Given the description of an element on the screen output the (x, y) to click on. 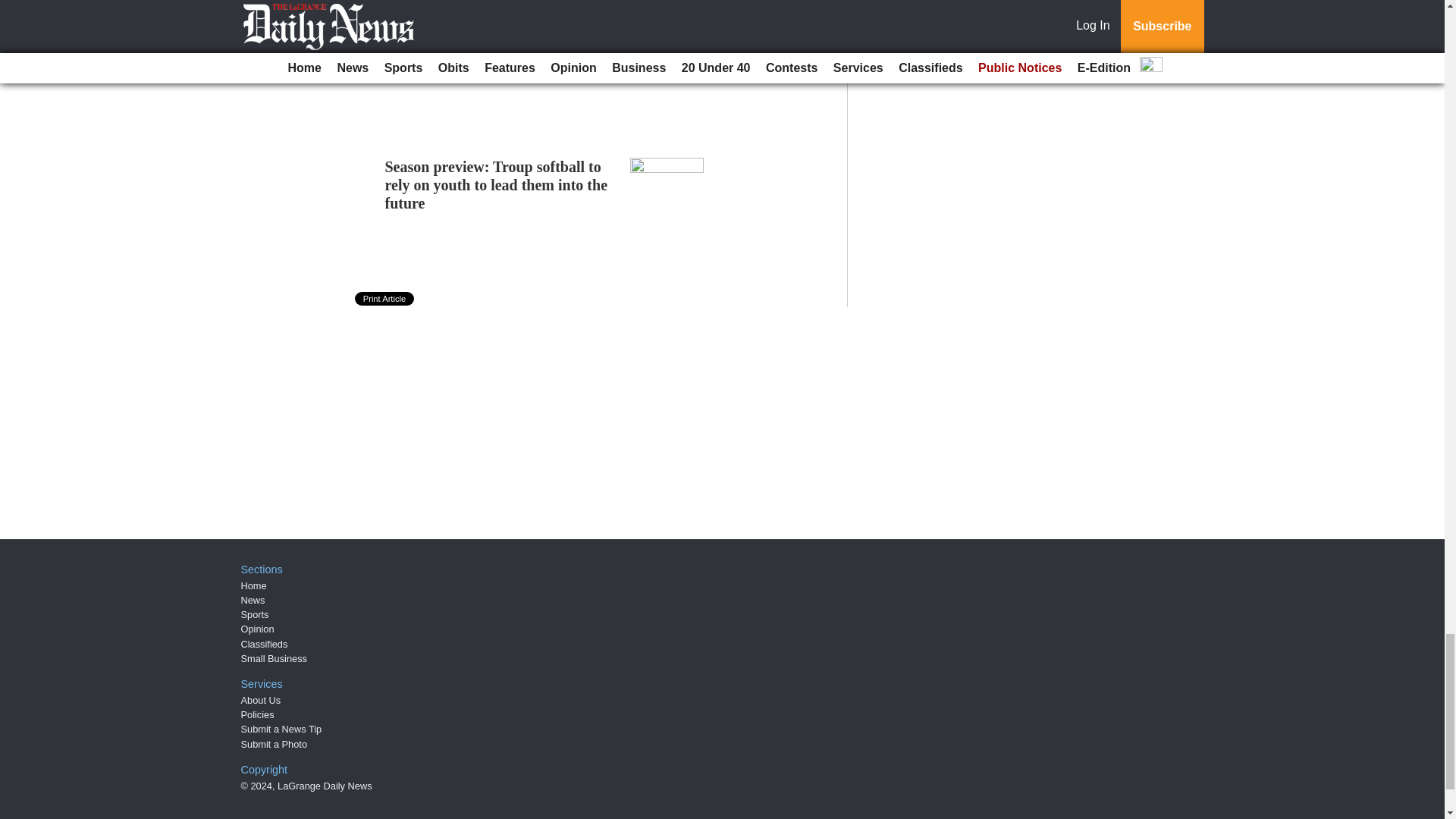
Print Article (384, 298)
Home (253, 585)
